Given the description of an element on the screen output the (x, y) to click on. 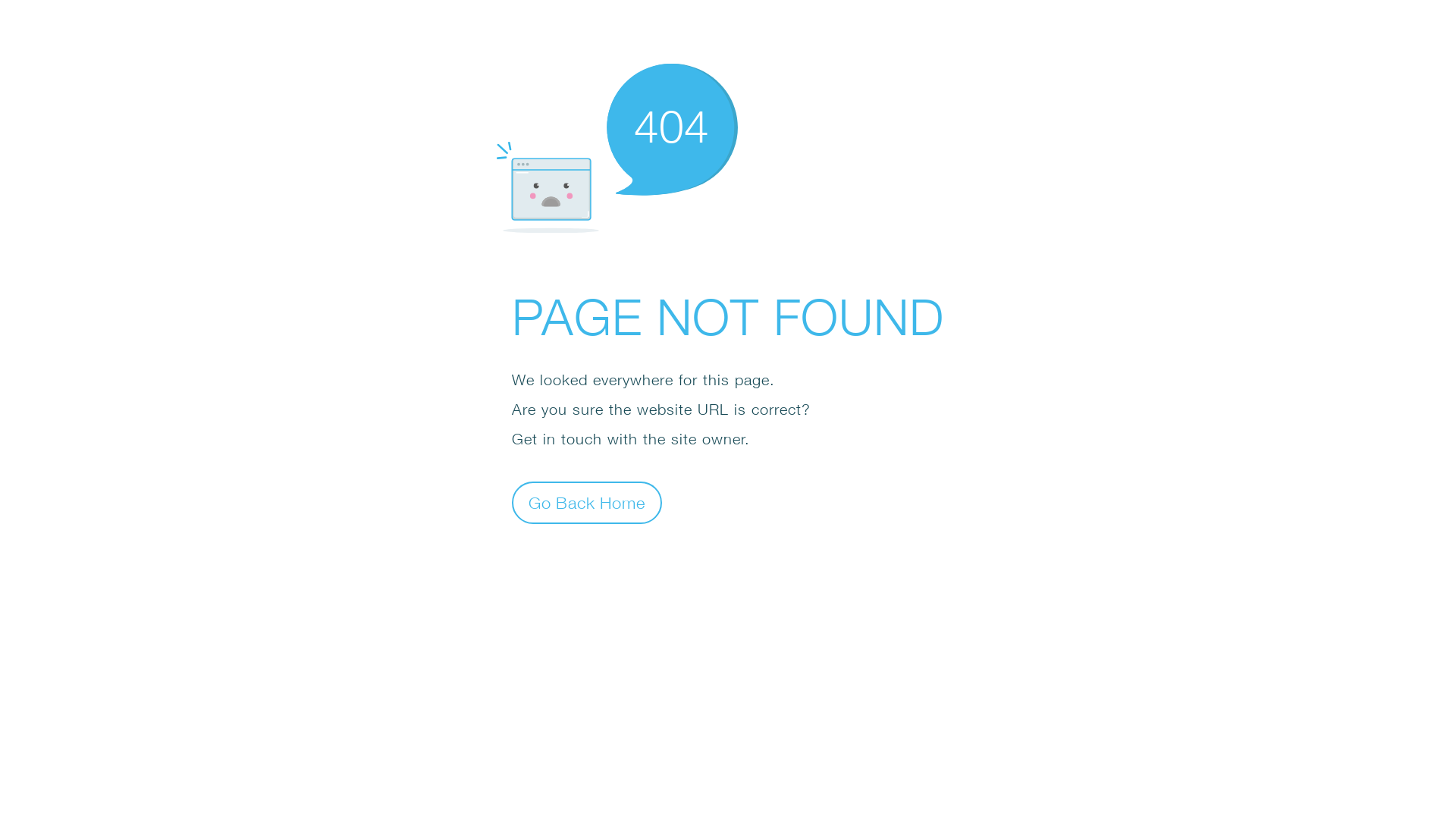
Go Back Home Element type: text (586, 502)
